Given the description of an element on the screen output the (x, y) to click on. 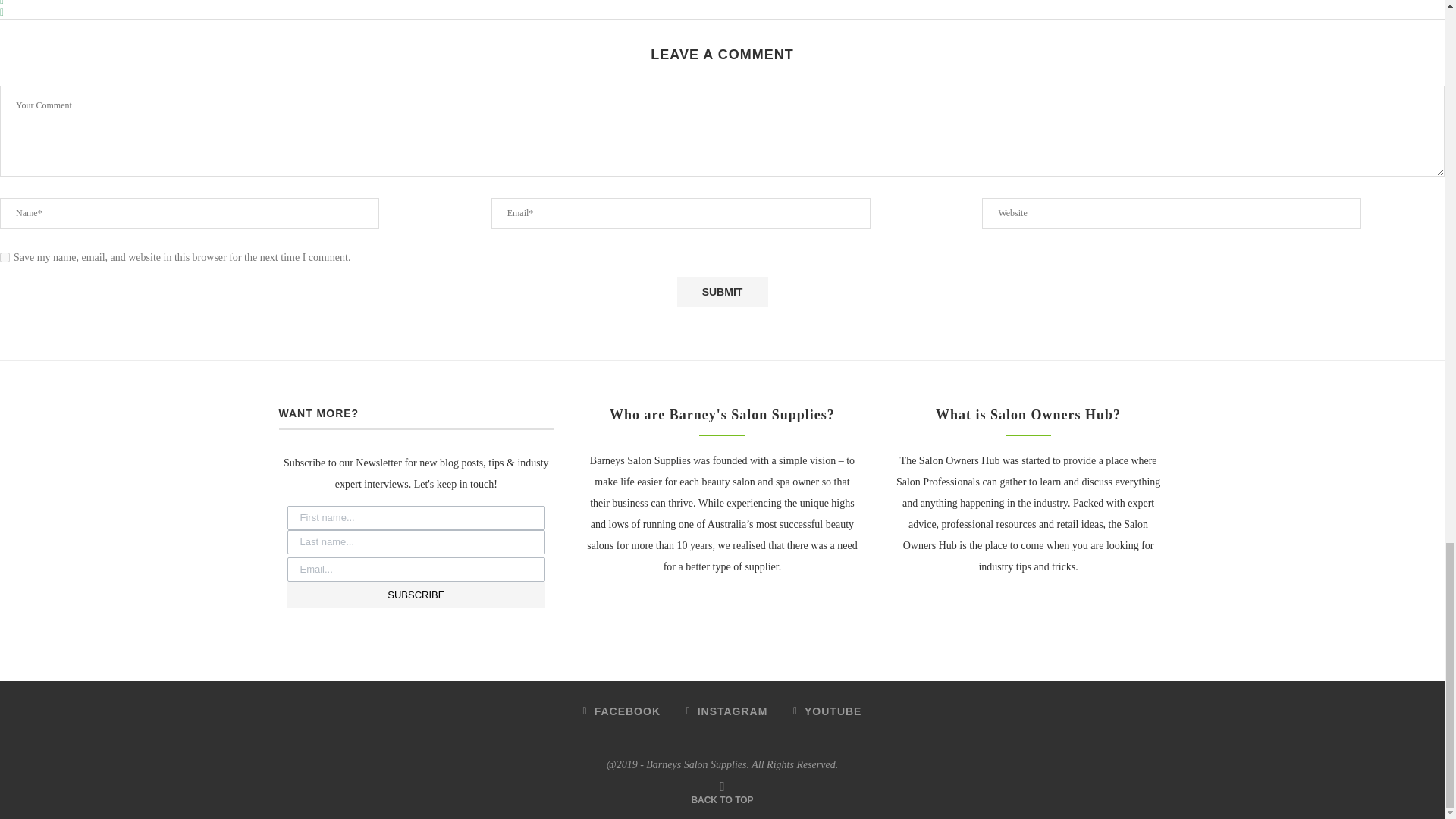
yes (5, 257)
Submit (722, 291)
